Given the description of an element on the screen output the (x, y) to click on. 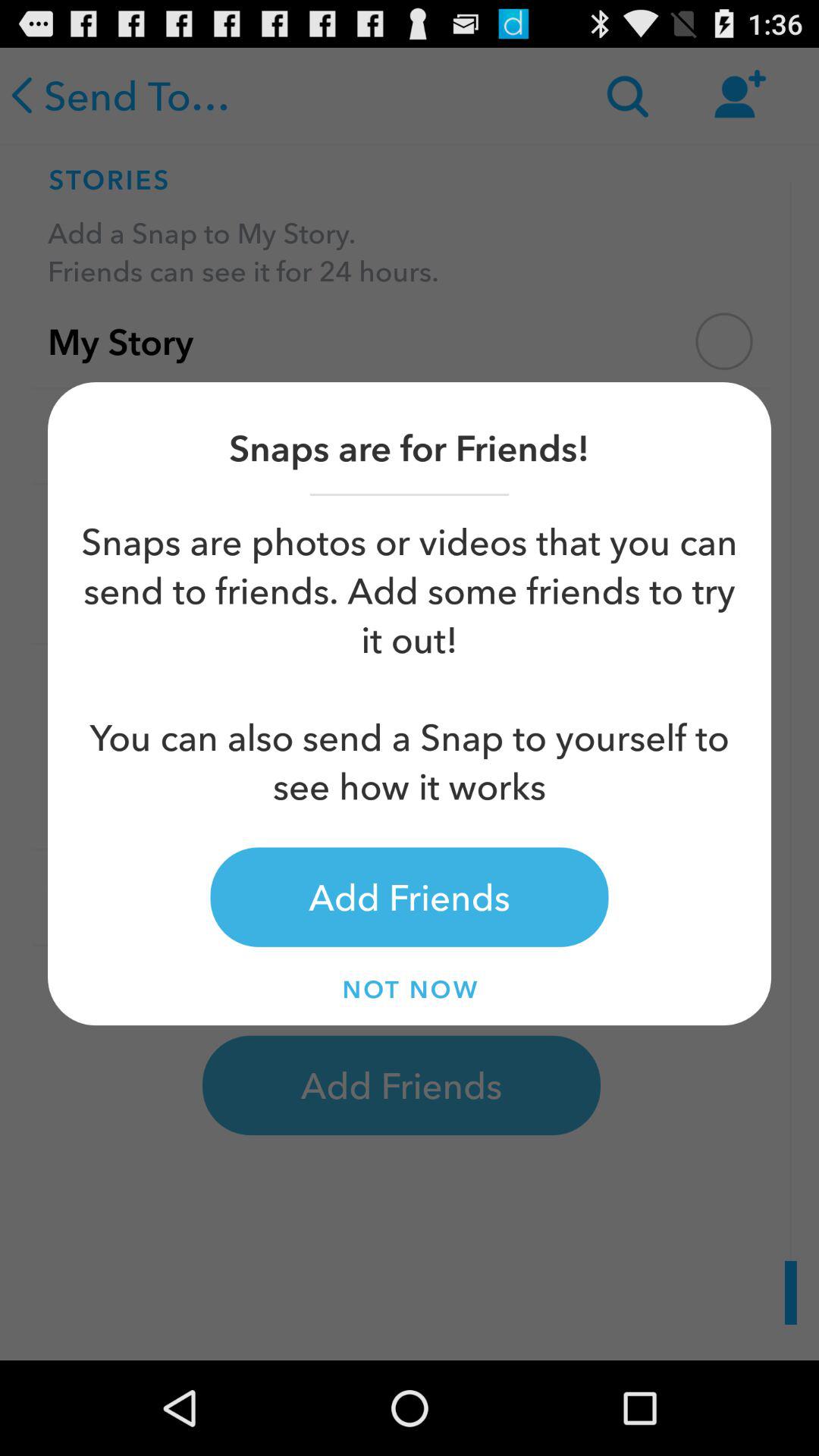
jump to not now icon (409, 989)
